Given the description of an element on the screen output the (x, y) to click on. 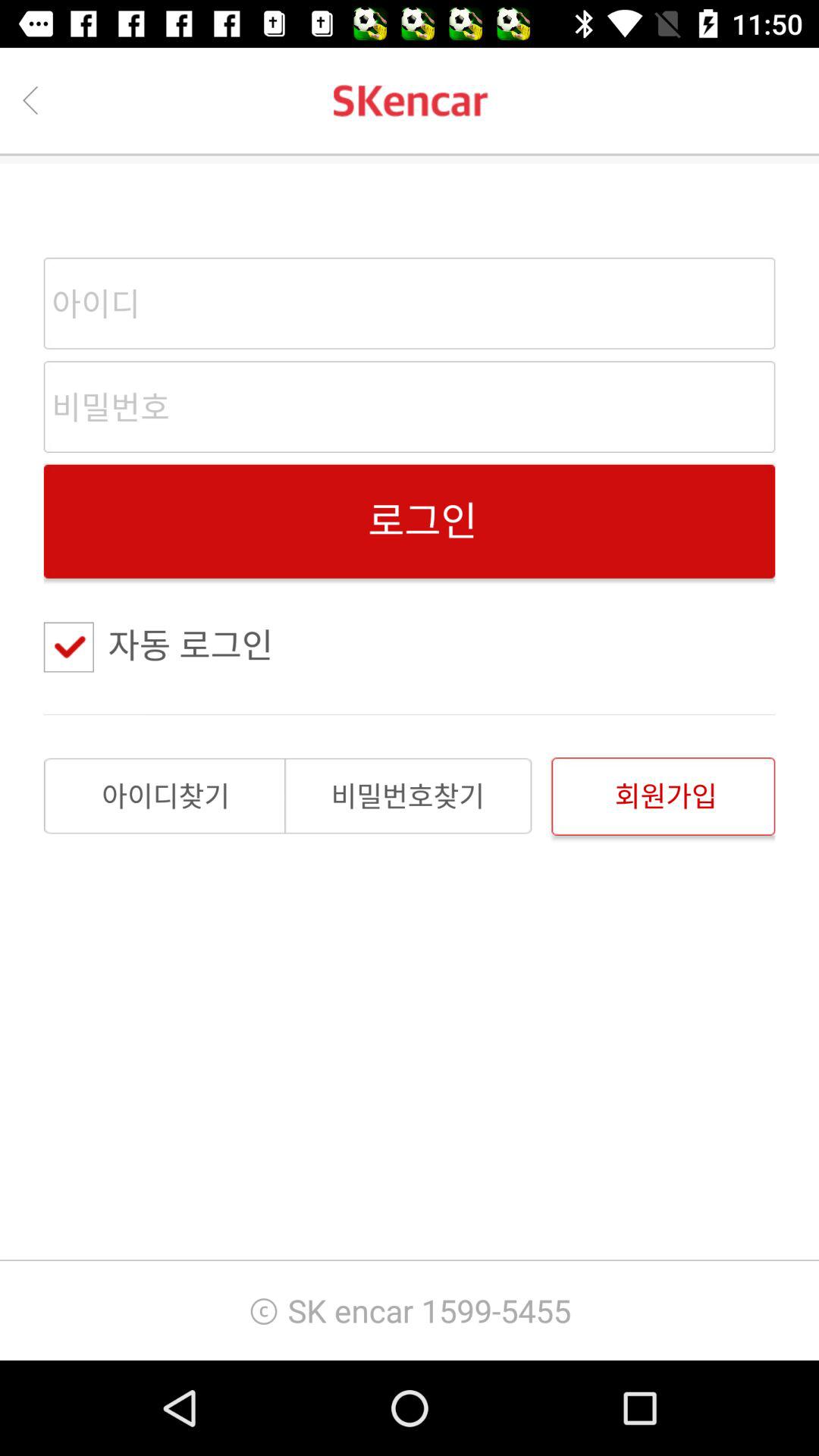
turn off the icon on the right (663, 796)
